Given the description of an element on the screen output the (x, y) to click on. 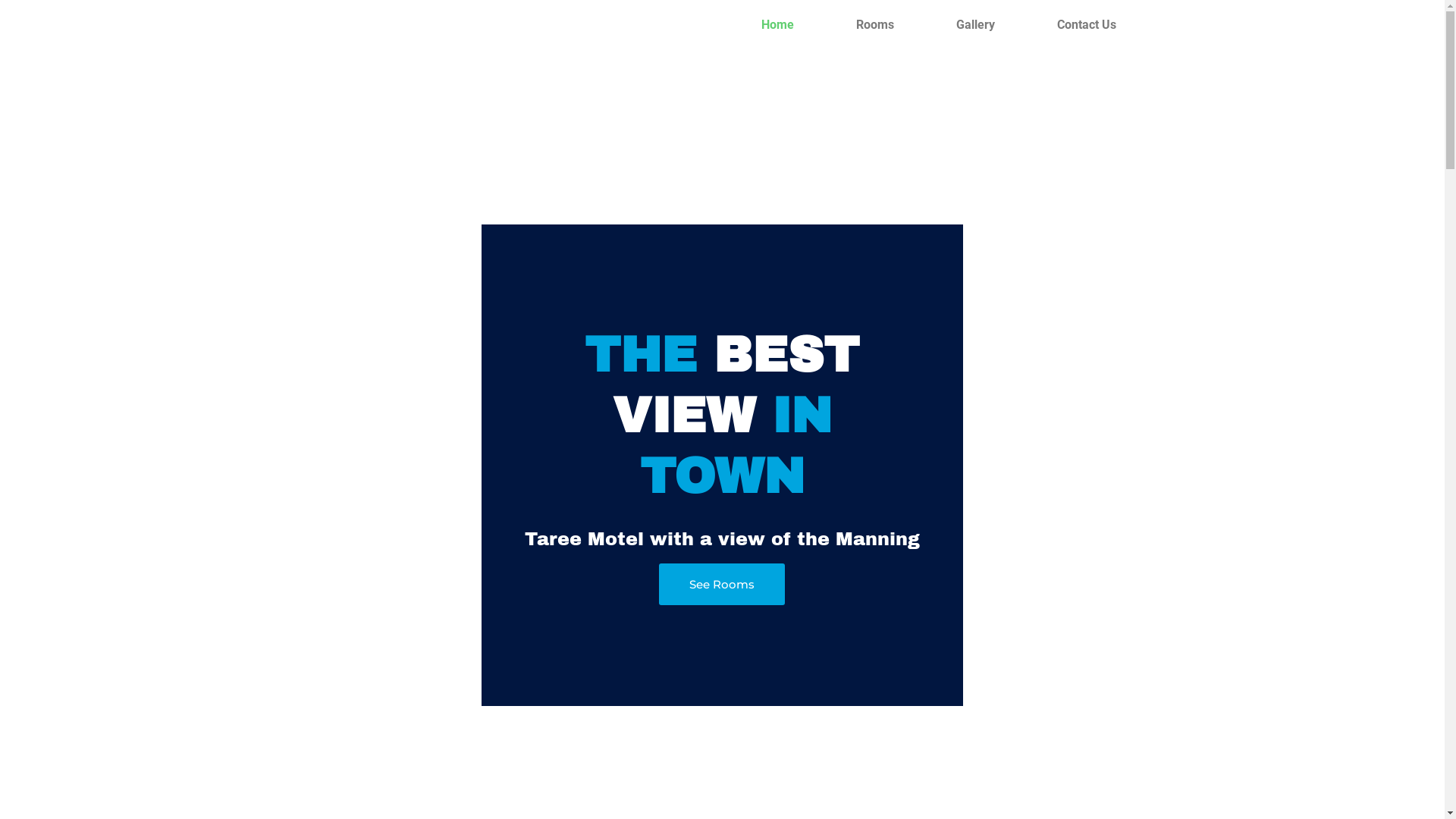
Rooms Element type: text (875, 24)
Gallery Element type: text (975, 24)
See Rooms Element type: text (721, 584)
Contact Us Element type: text (1085, 24)
Home Element type: text (776, 24)
